Given the description of an element on the screen output the (x, y) to click on. 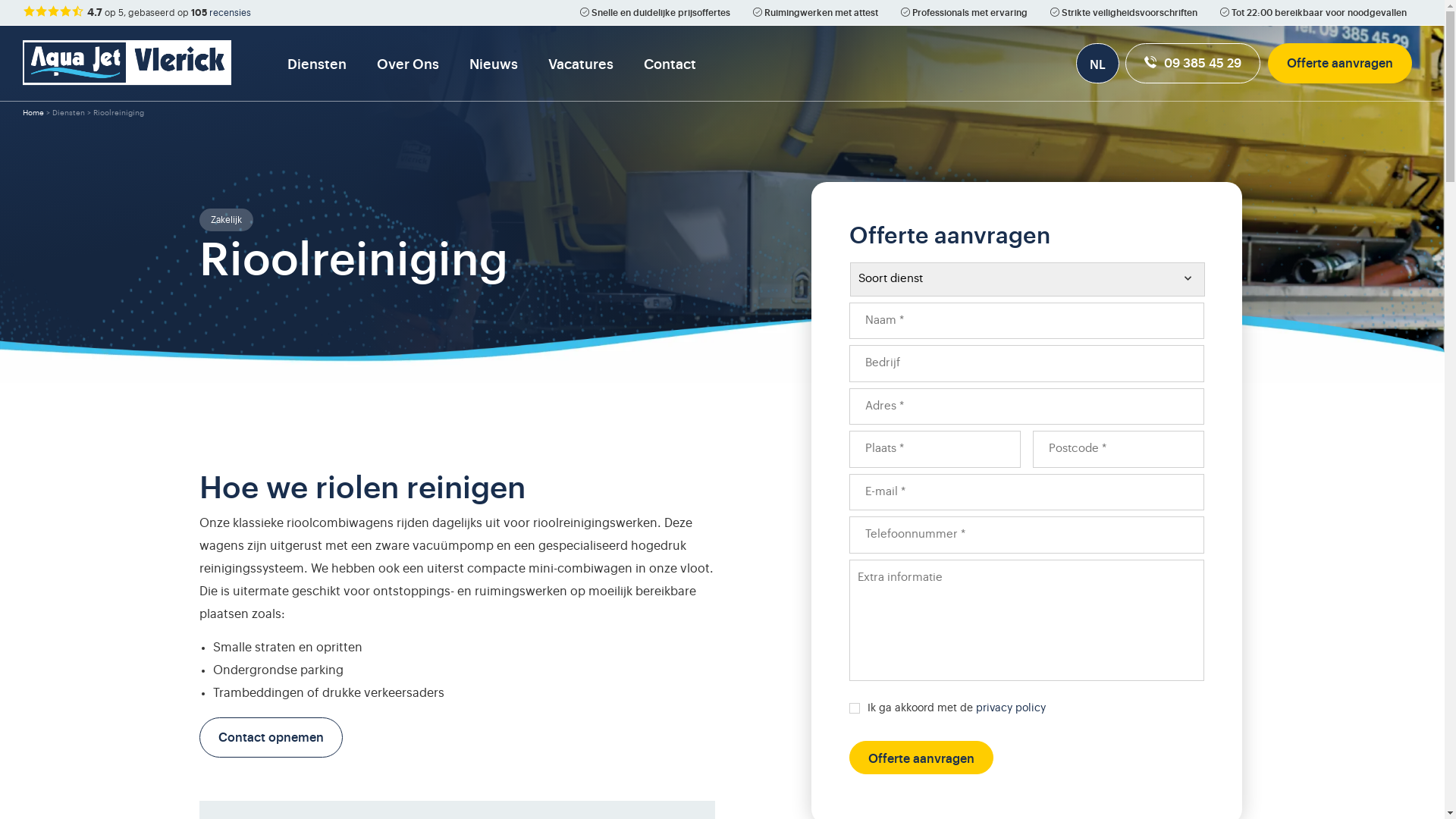
Over Ons Element type: text (407, 62)
Offerte aanvragen Element type: text (1339, 62)
105 recensies Element type: text (221, 11)
Nieuws Element type: text (493, 62)
Offerte aanvragen Element type: text (921, 756)
privacy policy Element type: text (1010, 707)
Contact opnemen Element type: text (270, 737)
Vacatures Element type: text (580, 62)
Contact Element type: text (669, 62)
09 385 45 29 Element type: text (1192, 62)
Home Element type: text (32, 112)
NL Element type: text (1097, 62)
Diensten Element type: text (316, 62)
Diensten Element type: text (68, 112)
